Given the description of an element on the screen output the (x, y) to click on. 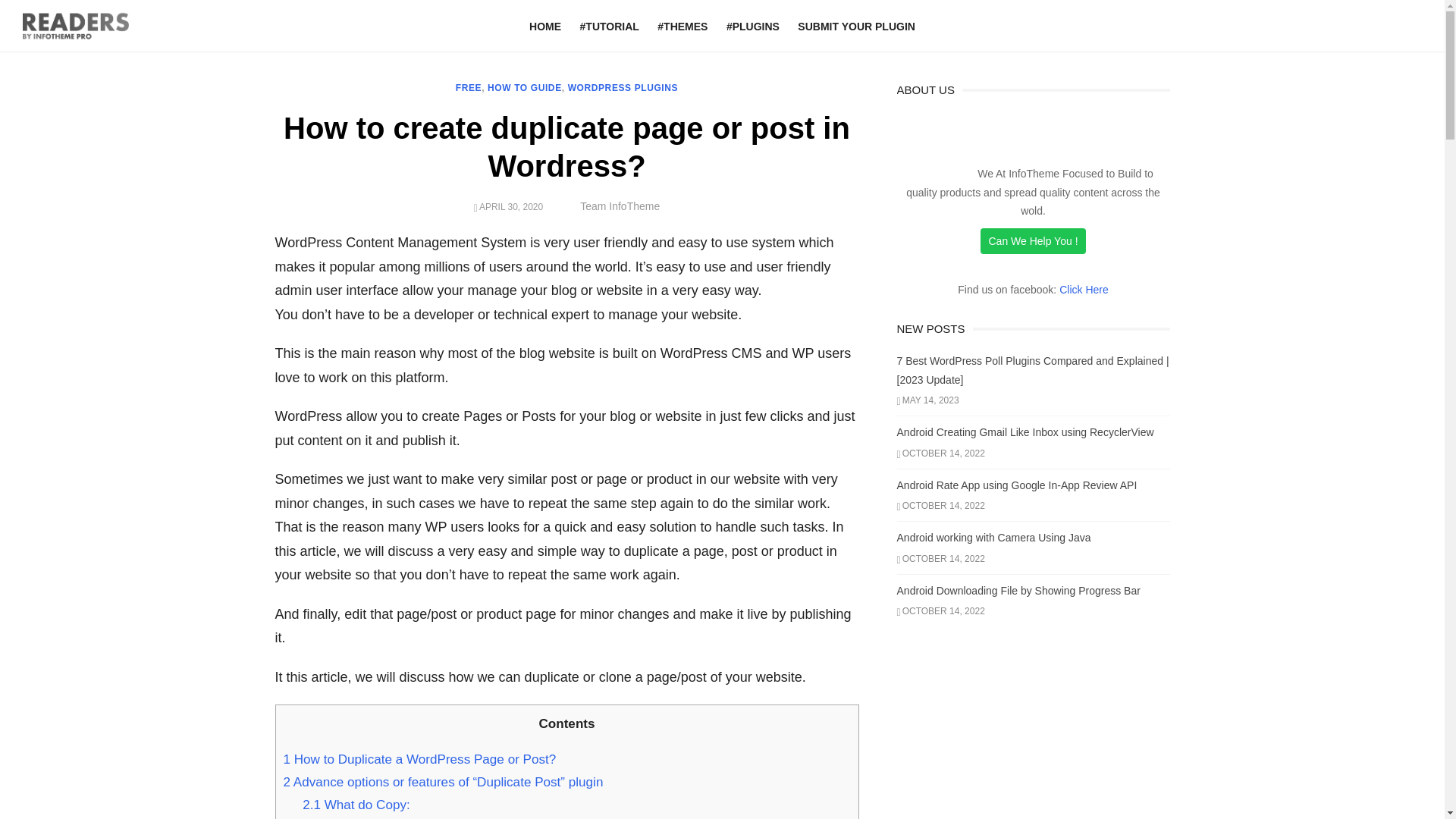
HOW TO GUIDE (524, 87)
1 How to Duplicate a WordPress Page or Post? (419, 759)
Android Downloading File by Showing Progress Bar (1018, 590)
WORDPRESS PLUGINS (622, 87)
2.1 What do Copy: (356, 804)
Click Here (1083, 289)
Team InfoTheme (619, 205)
SUBMIT YOUR PLUGIN (856, 26)
FREE (468, 87)
Android Creating Gmail Like Inbox using RecyclerView (1025, 431)
HOME (545, 26)
Android Rate App using Google In-App Review API (1016, 485)
Can We Help You ! (1031, 241)
Android working with Camera Using Java (993, 537)
APRIL 30, 2020 (511, 206)
